Given the description of an element on the screen output the (x, y) to click on. 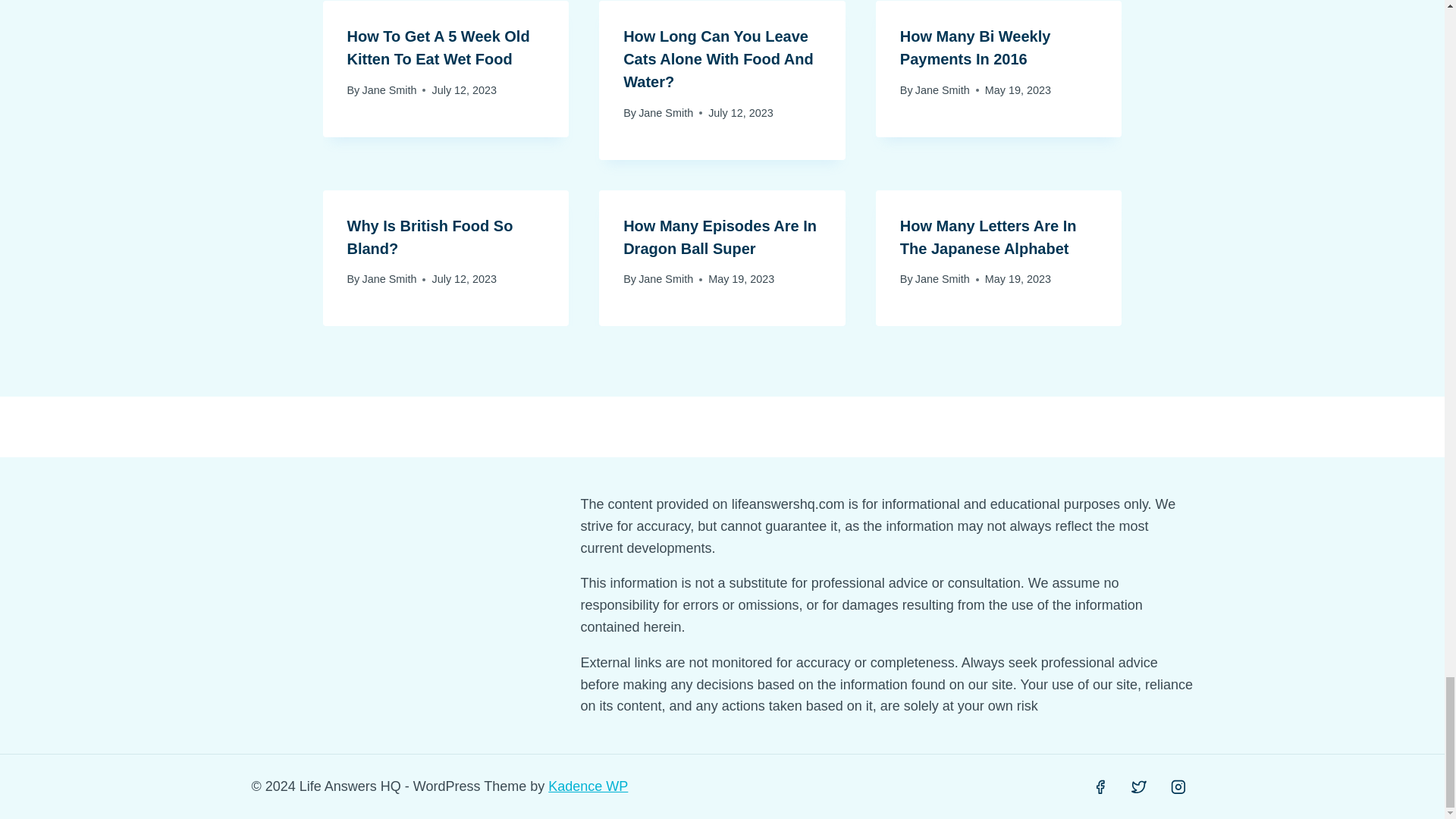
How To Get A 5 Week Old Kitten To Eat Wet Food (438, 47)
How Many Letters Are In The Japanese Alphabet (988, 237)
Jane Smith (666, 278)
Jane Smith (388, 90)
How Many Episodes Are In Dragon Ball Super (719, 237)
How Long Can You Leave Cats Alone With Food And Water? (718, 58)
How Many Bi Weekly Payments In 2016 (975, 47)
Jane Smith (942, 90)
Jane Smith (388, 278)
Jane Smith (666, 112)
Why Is British Food So Bland? (430, 237)
Jane Smith (942, 278)
Kadence WP (587, 785)
